Given the description of an element on the screen output the (x, y) to click on. 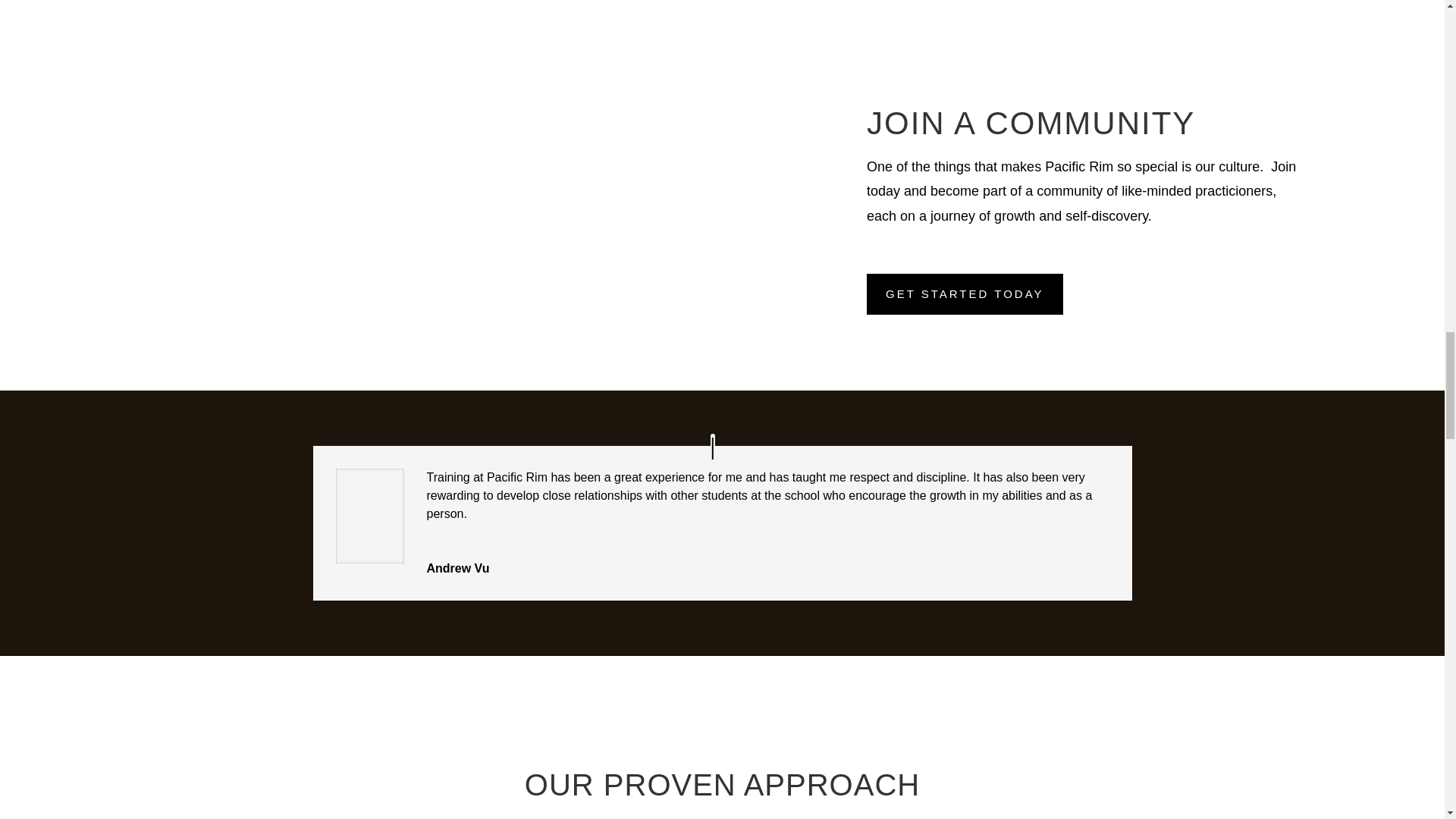
Page 2 (722, 812)
